Given the description of an element on the screen output the (x, y) to click on. 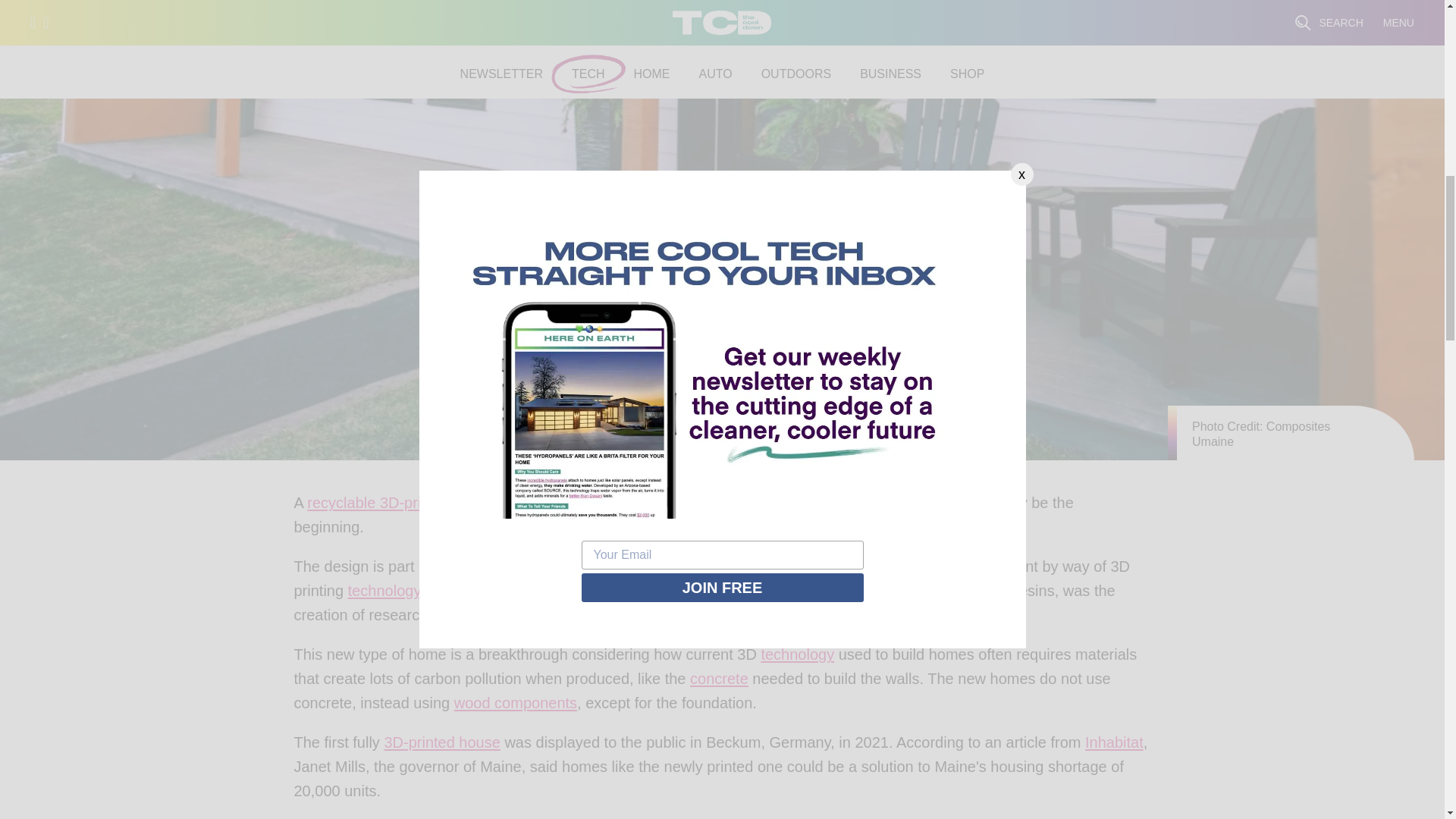
Green tech (383, 594)
technology (383, 594)
recyclable 3D-printed home (400, 506)
Green tech (797, 658)
concrete (719, 682)
wood components (515, 706)
technology (797, 658)
University of Maine (577, 618)
